Given the description of an element on the screen output the (x, y) to click on. 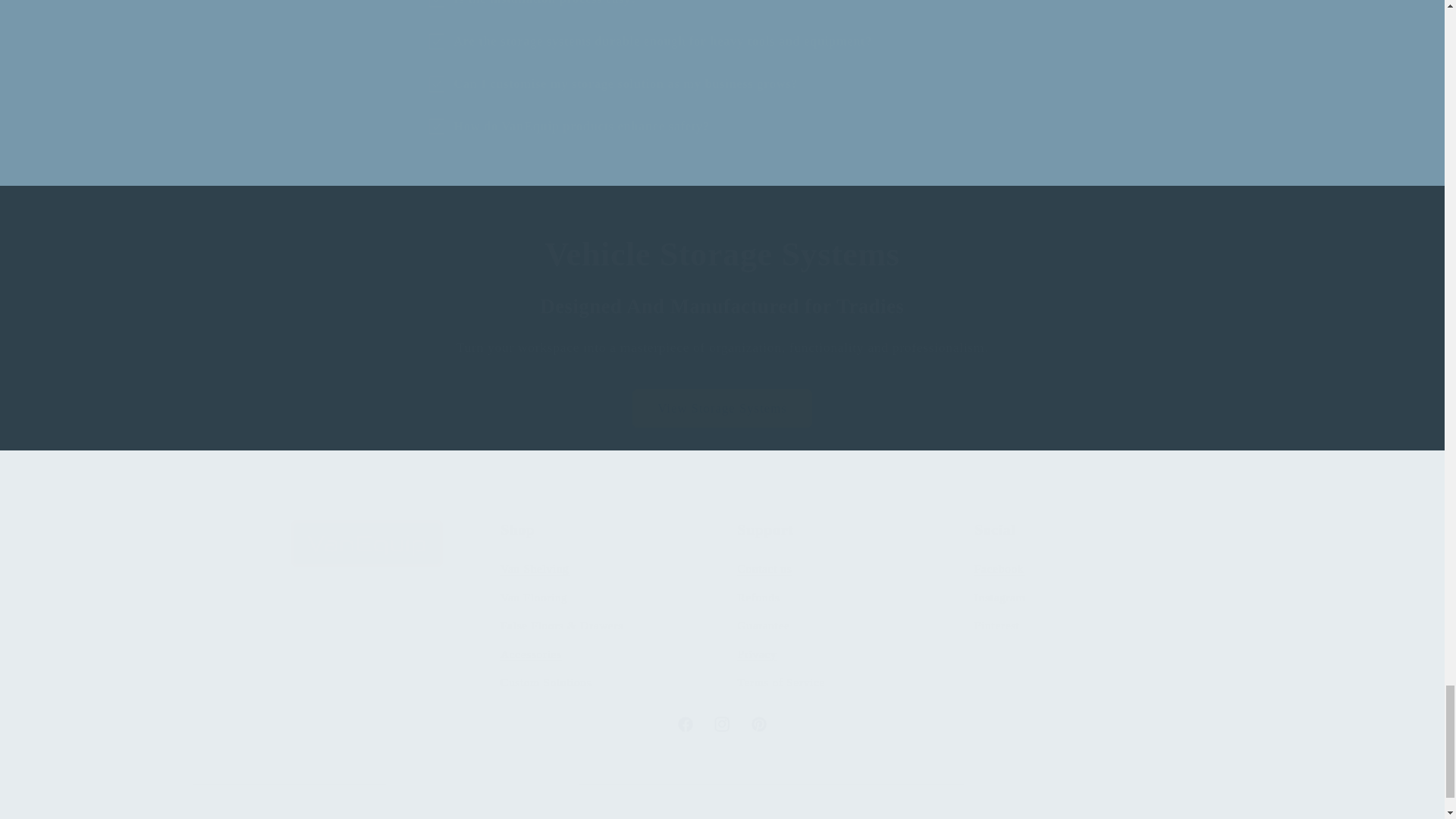
Designed And Manufactured for Tradies (721, 723)
View Storage Systems (722, 306)
Vehicle Storage Systems (722, 408)
